Given the description of an element on the screen output the (x, y) to click on. 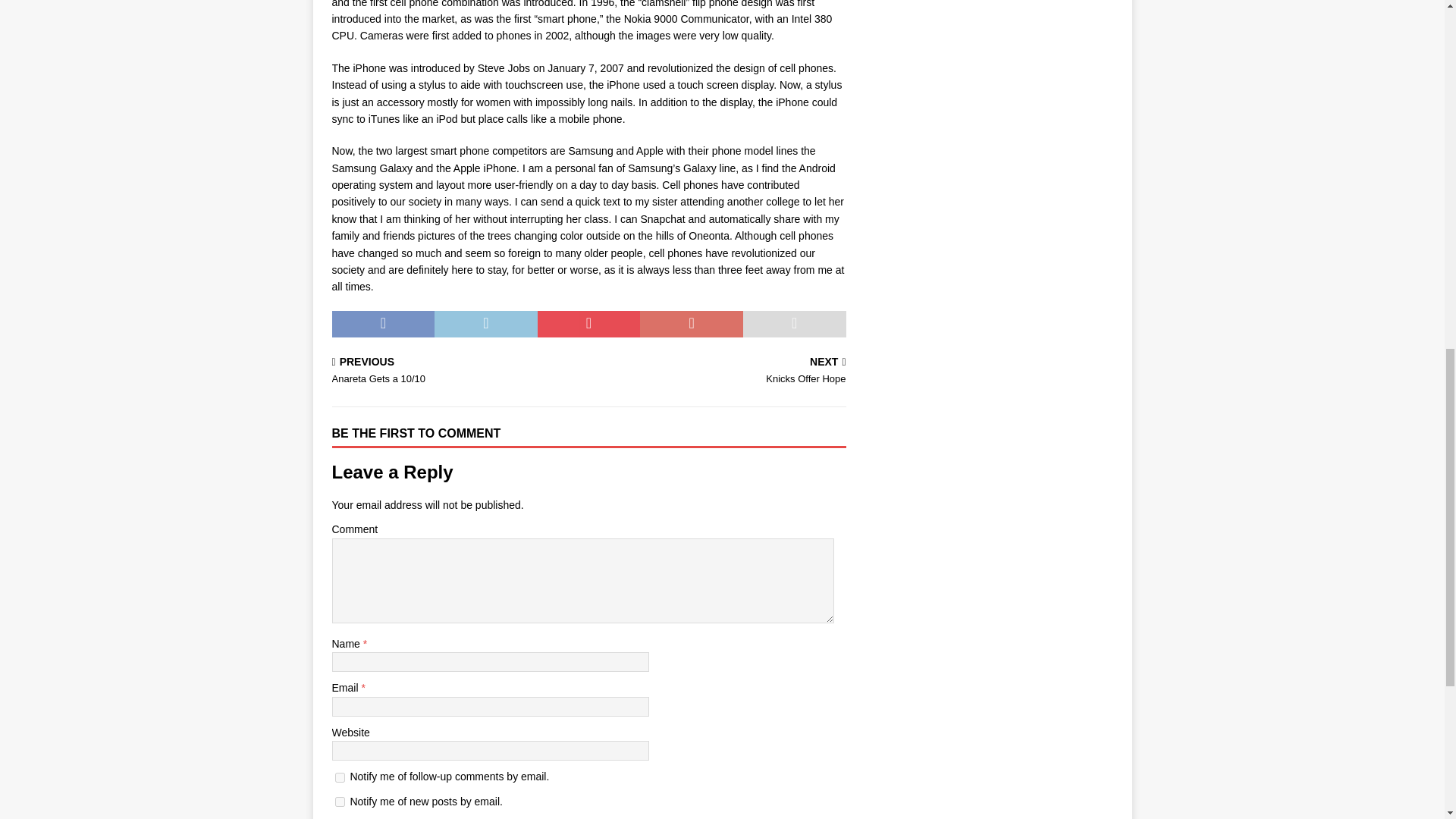
subscribe (339, 801)
subscribe (339, 777)
